Given the description of an element on the screen output the (x, y) to click on. 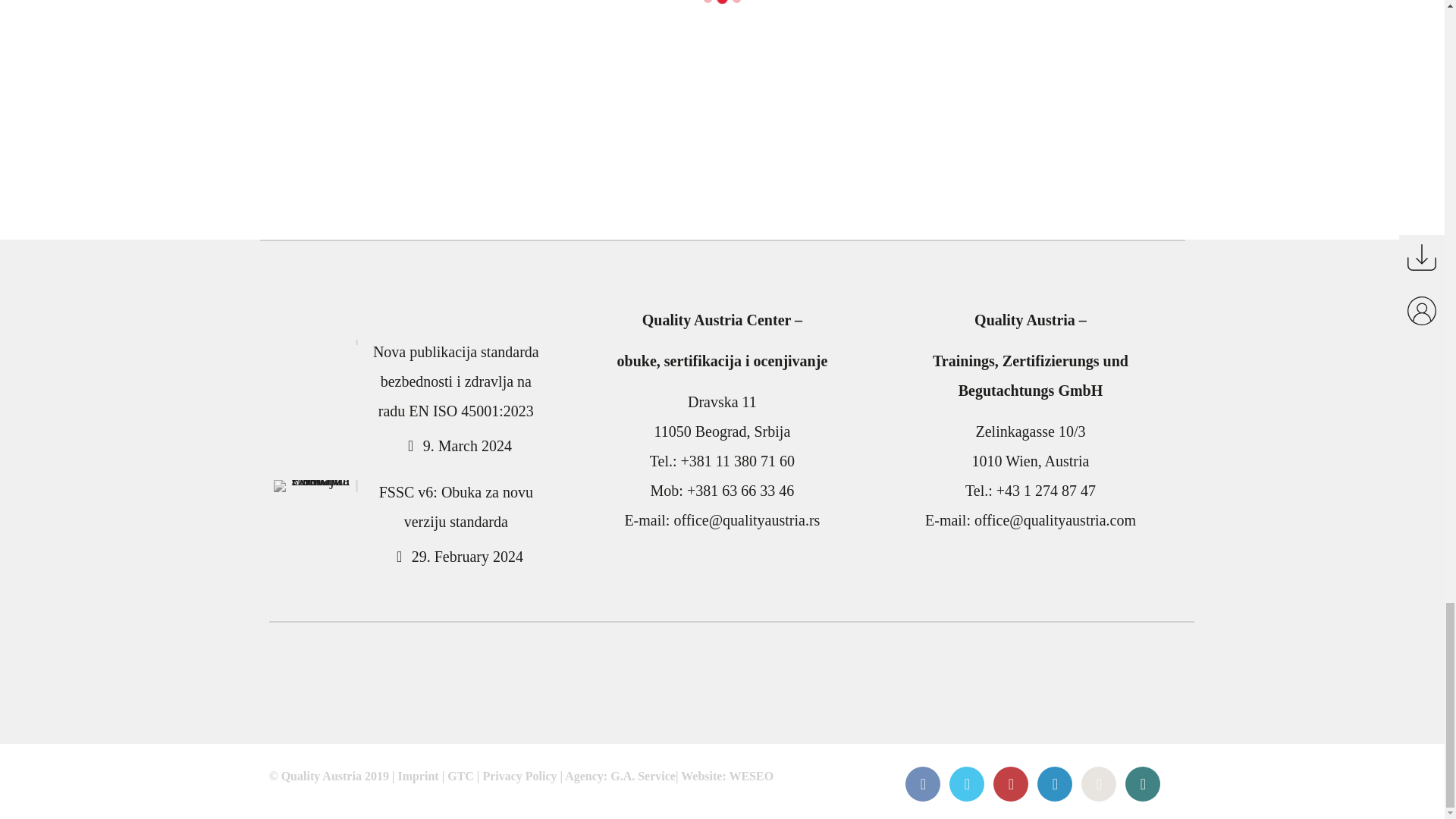
Twitter (966, 783)
LinkedIn (1054, 783)
Instagram (1098, 783)
Xing (1142, 783)
Facebook (922, 783)
YouTube (1011, 783)
